Given the description of an element on the screen output the (x, y) to click on. 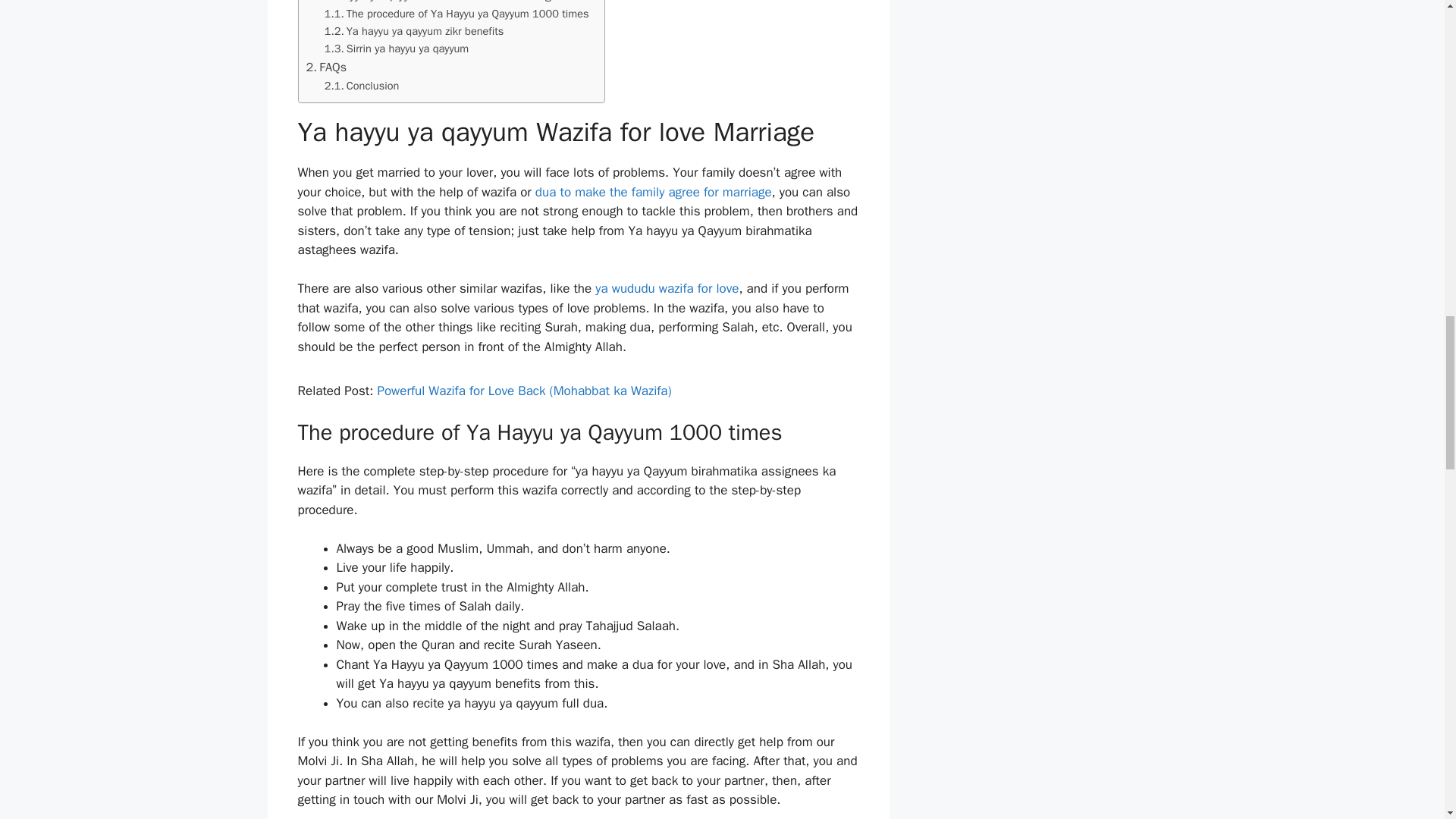
The procedure of Ya Hayyu ya Qayyum 1000 times (456, 13)
Ya hayyu ya qayyum Wazifa for love Marriage (431, 2)
FAQs (326, 66)
Conclusion (361, 85)
The procedure of Ya Hayyu ya Qayyum 1000 times (456, 13)
Ya hayyu ya qayyum zikr benefits (413, 31)
ya wududu wazifa for love (666, 288)
Conclusion (361, 85)
FAQs (326, 66)
Ya hayyu ya qayyum Wazifa for love Marriage (431, 2)
Sirrin ya hayyu ya qayyum (396, 48)
Ya hayyu ya qayyum zikr benefits (413, 31)
dua to make the family agree for marriage (653, 191)
Sirrin ya hayyu ya qayyum (396, 48)
